Given the description of an element on the screen output the (x, y) to click on. 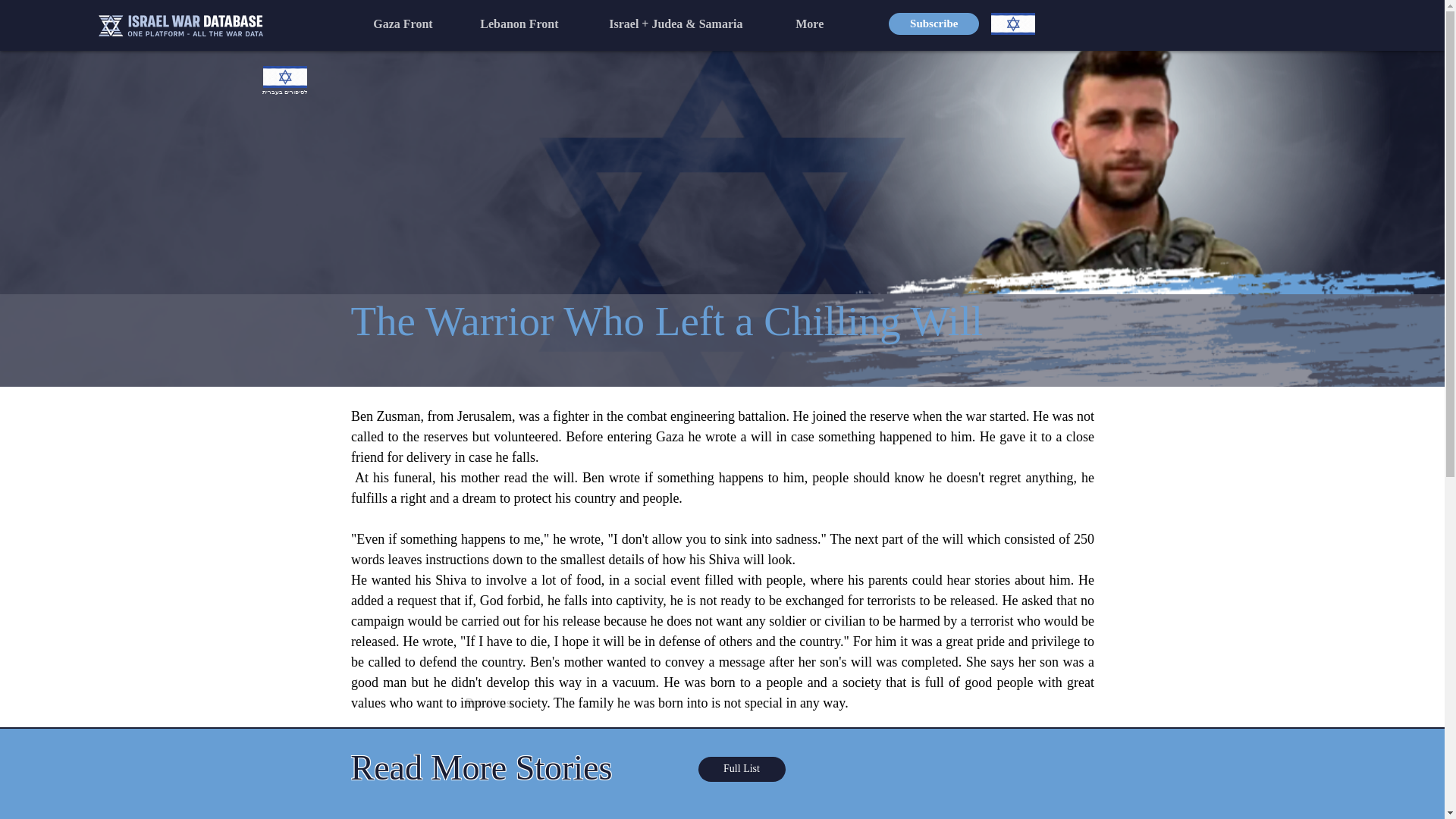
Lebanon Front (531, 23)
Next (943, 703)
Previous (515, 703)
Full List (740, 769)
Subscribe (933, 24)
Gaza Front (414, 23)
